Given the description of an element on the screen output the (x, y) to click on. 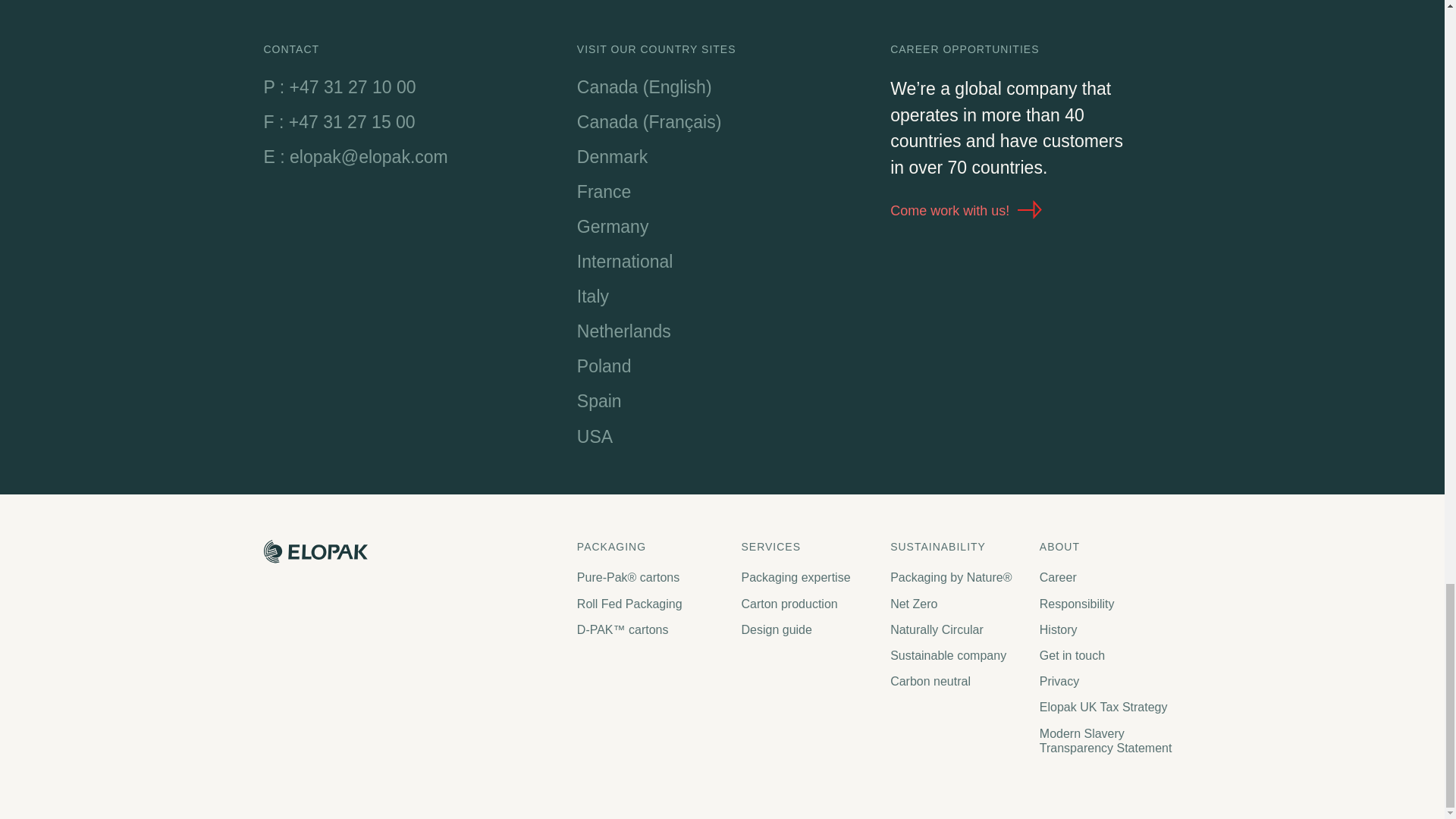
Services (808, 546)
Packaging (651, 546)
